Given the description of an element on the screen output the (x, y) to click on. 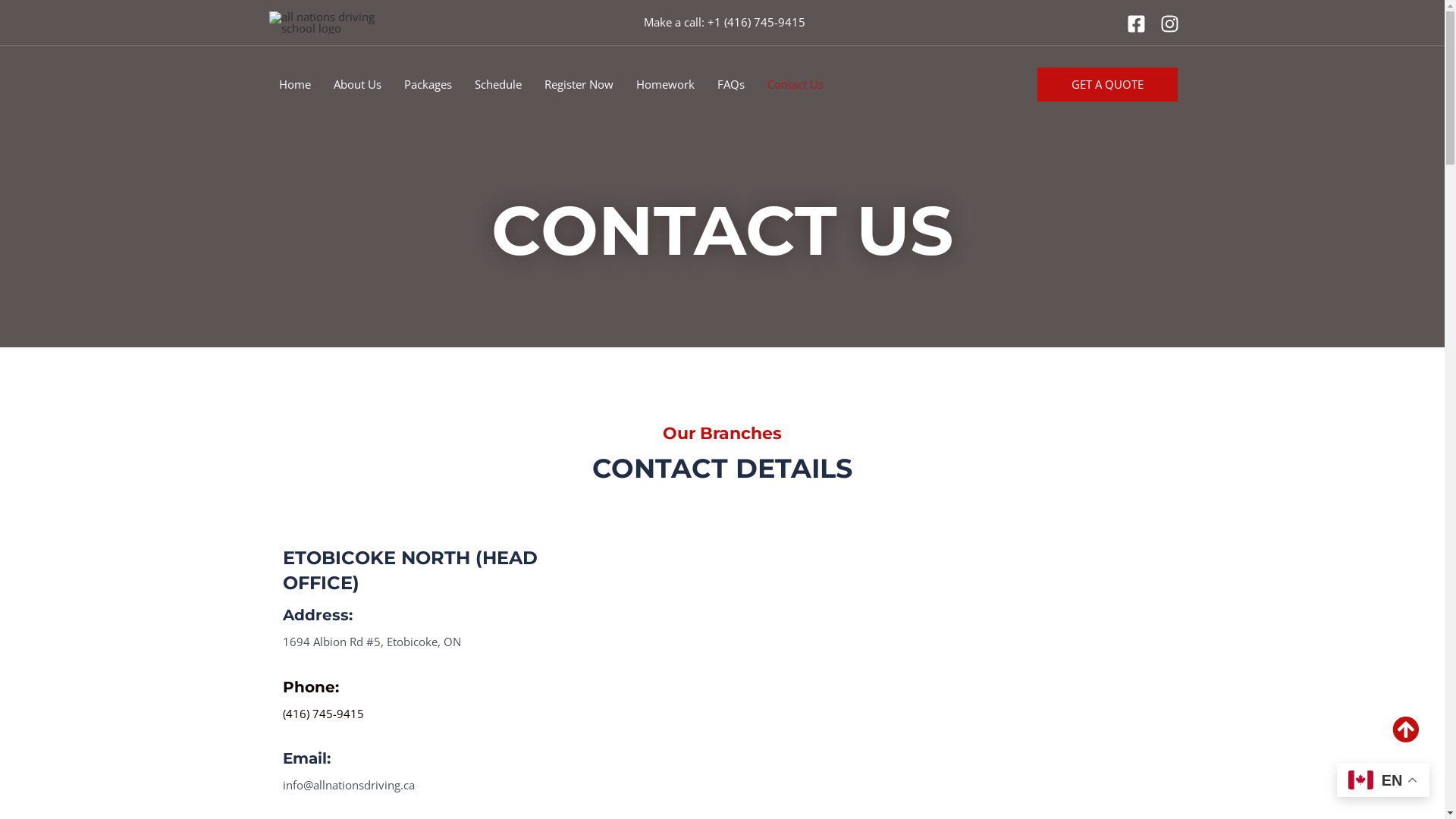
Register Now Element type: text (578, 83)
Homework Element type: text (665, 83)
About Us Element type: text (356, 83)
FAQs Element type: text (730, 83)
Packages Element type: text (427, 83)
Schedule Element type: text (497, 83)
GET A QUOTE Element type: text (1107, 83)
Home Element type: text (293, 83)
Contact Us Element type: text (794, 83)
